Given the description of an element on the screen output the (x, y) to click on. 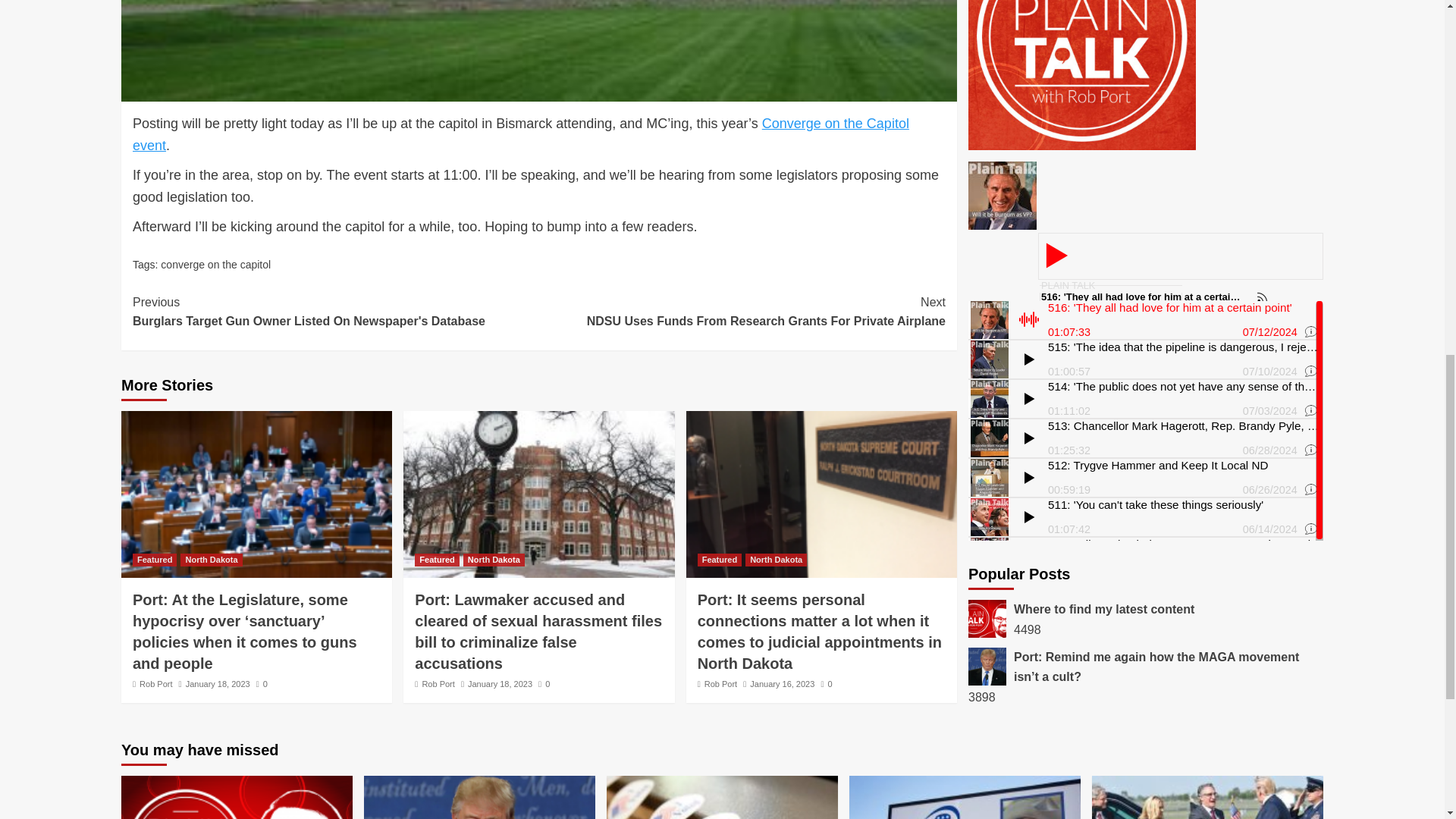
North Dakota (493, 559)
converge on the capitol (215, 264)
Featured (436, 559)
Converge on the Capitol event (520, 134)
Featured (154, 559)
North Dakota (210, 559)
Rob Port (155, 683)
0 (261, 683)
January 18, 2023 (218, 683)
